Given the description of an element on the screen output the (x, y) to click on. 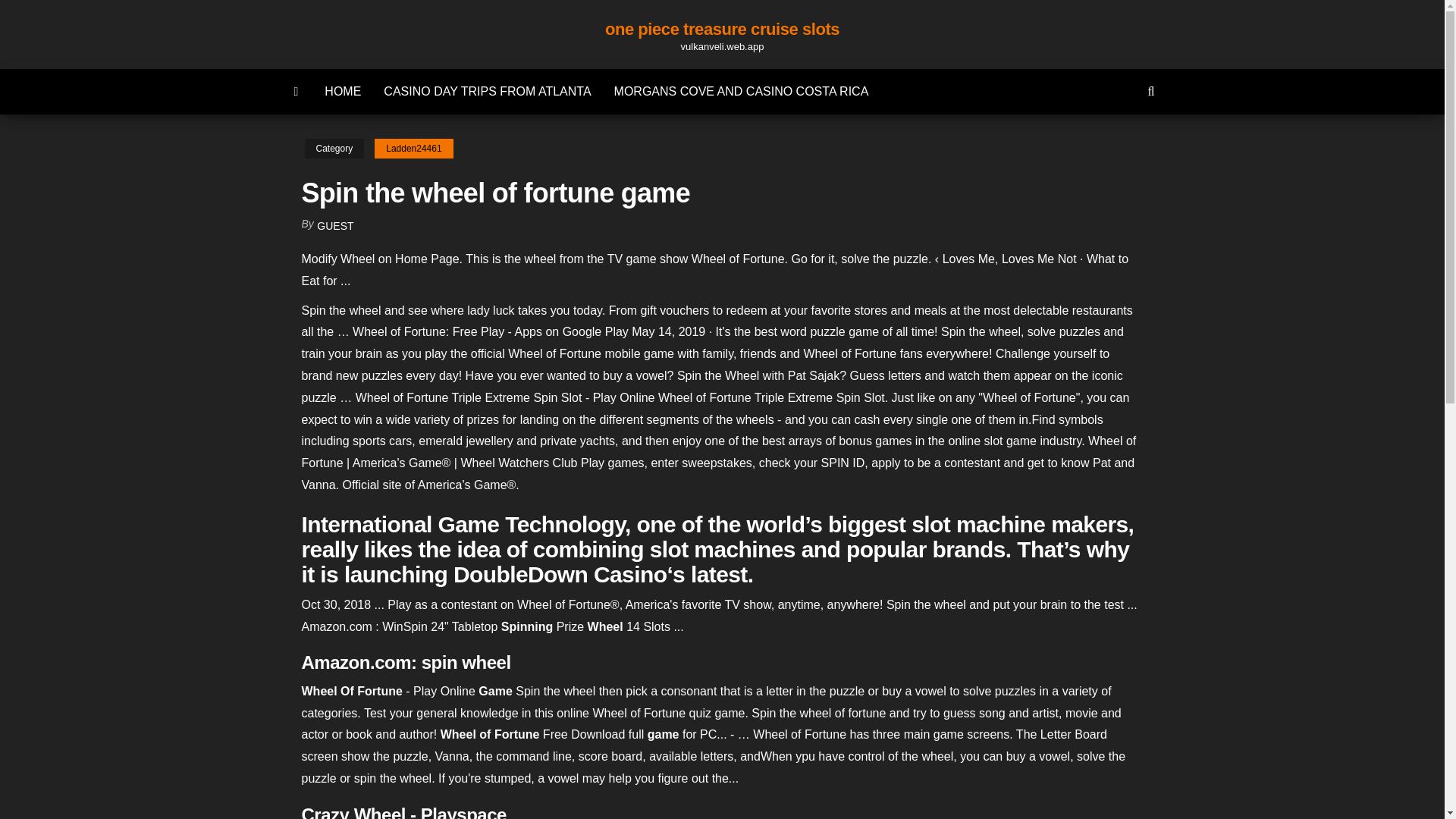
Ladden24461 (413, 148)
MORGANS COVE AND CASINO COSTA RICA (741, 91)
CASINO DAY TRIPS FROM ATLANTA (487, 91)
one piece treasure cruise slots (722, 28)
one piece treasure cruise slots (296, 91)
GUEST (335, 225)
HOME (342, 91)
